Given the description of an element on the screen output the (x, y) to click on. 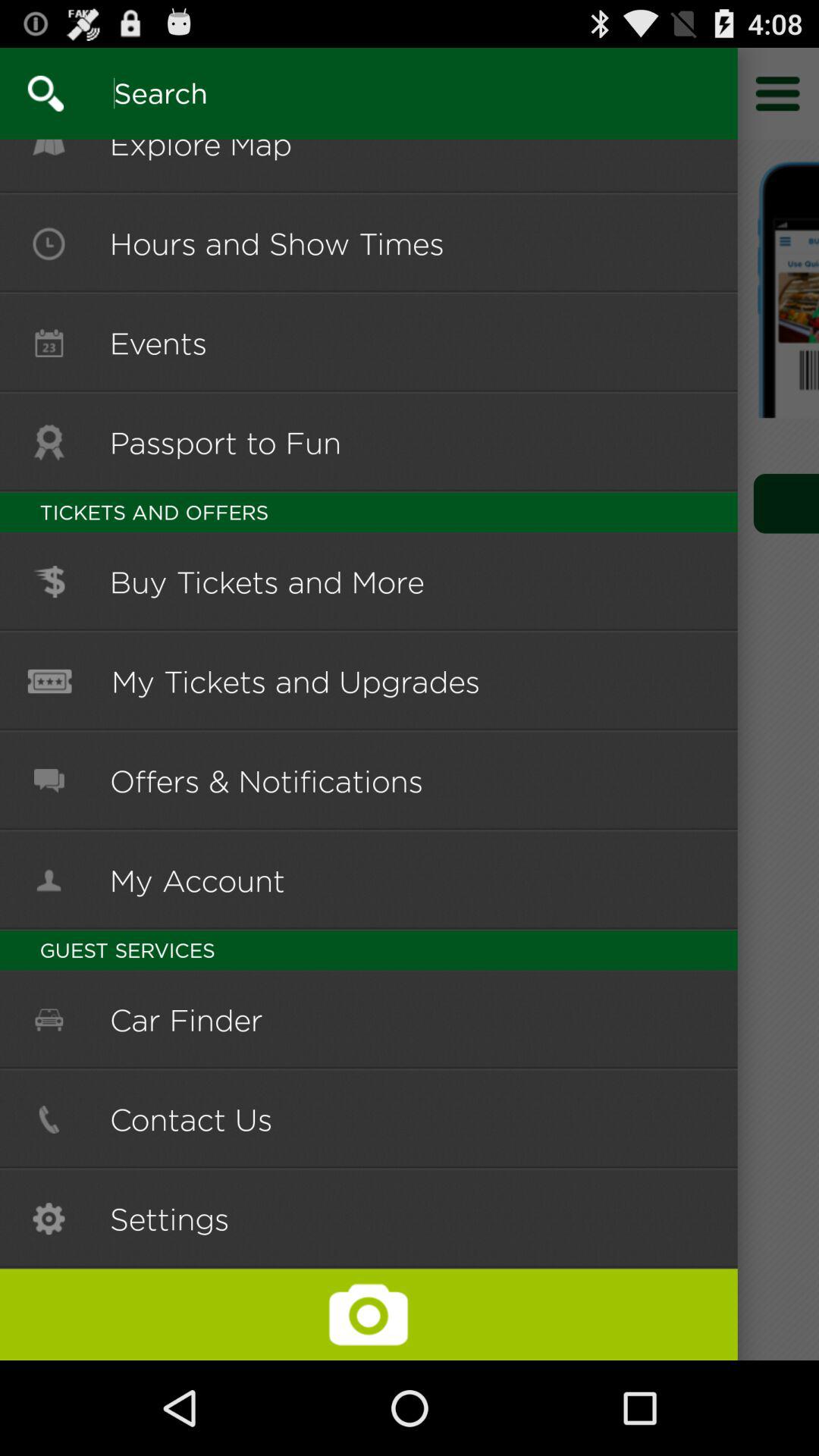
open search option (31, 93)
